Given the description of an element on the screen output the (x, y) to click on. 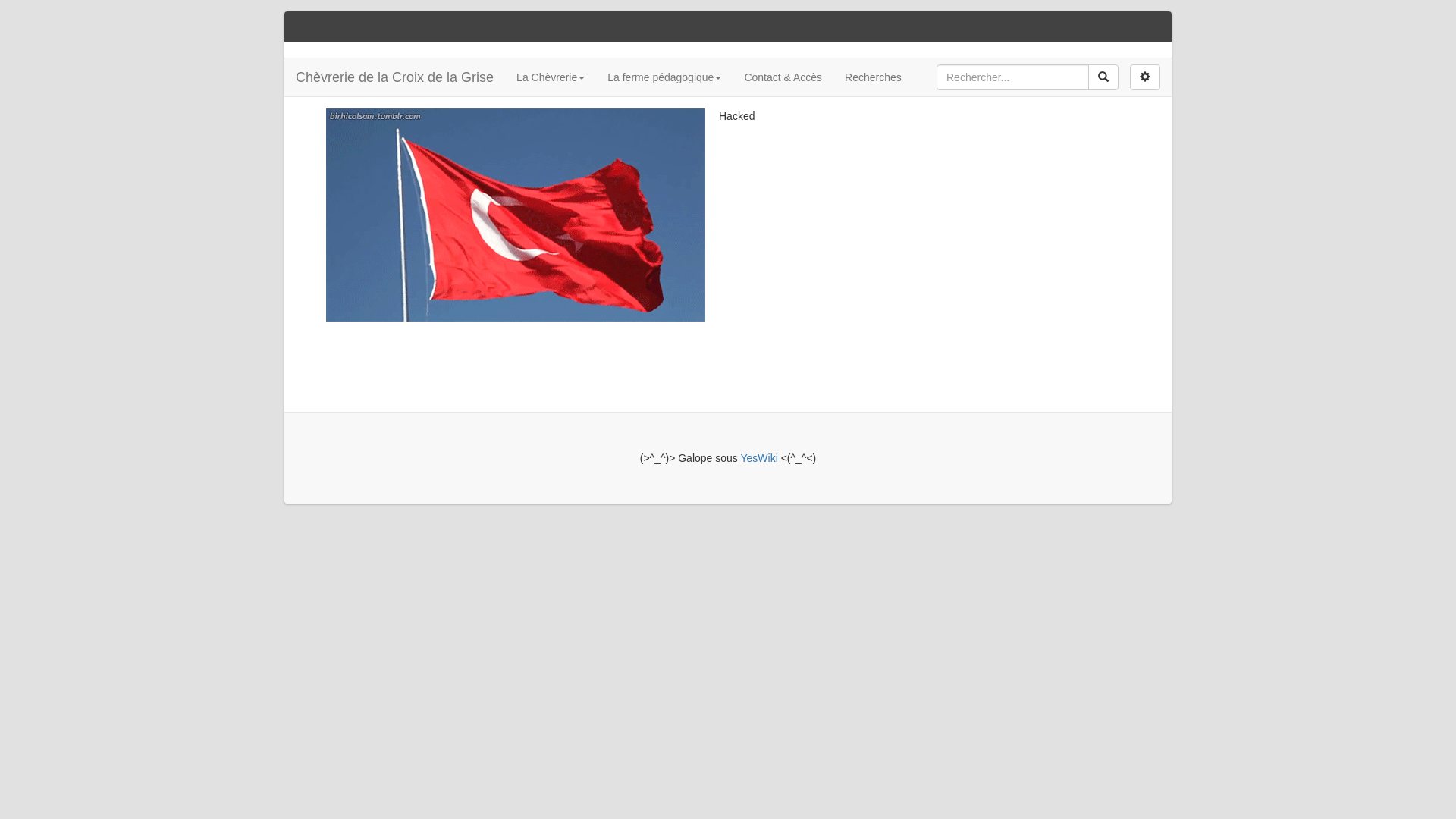
Rechercher les pages comportant ce texte. Element type: hover (1103, 77)
Rechercher dans YesWiki [alt-shift-C] Element type: hover (1012, 77)
YesWiki Element type: text (758, 457)
Recherches Element type: text (873, 77)
